Given the description of an element on the screen output the (x, y) to click on. 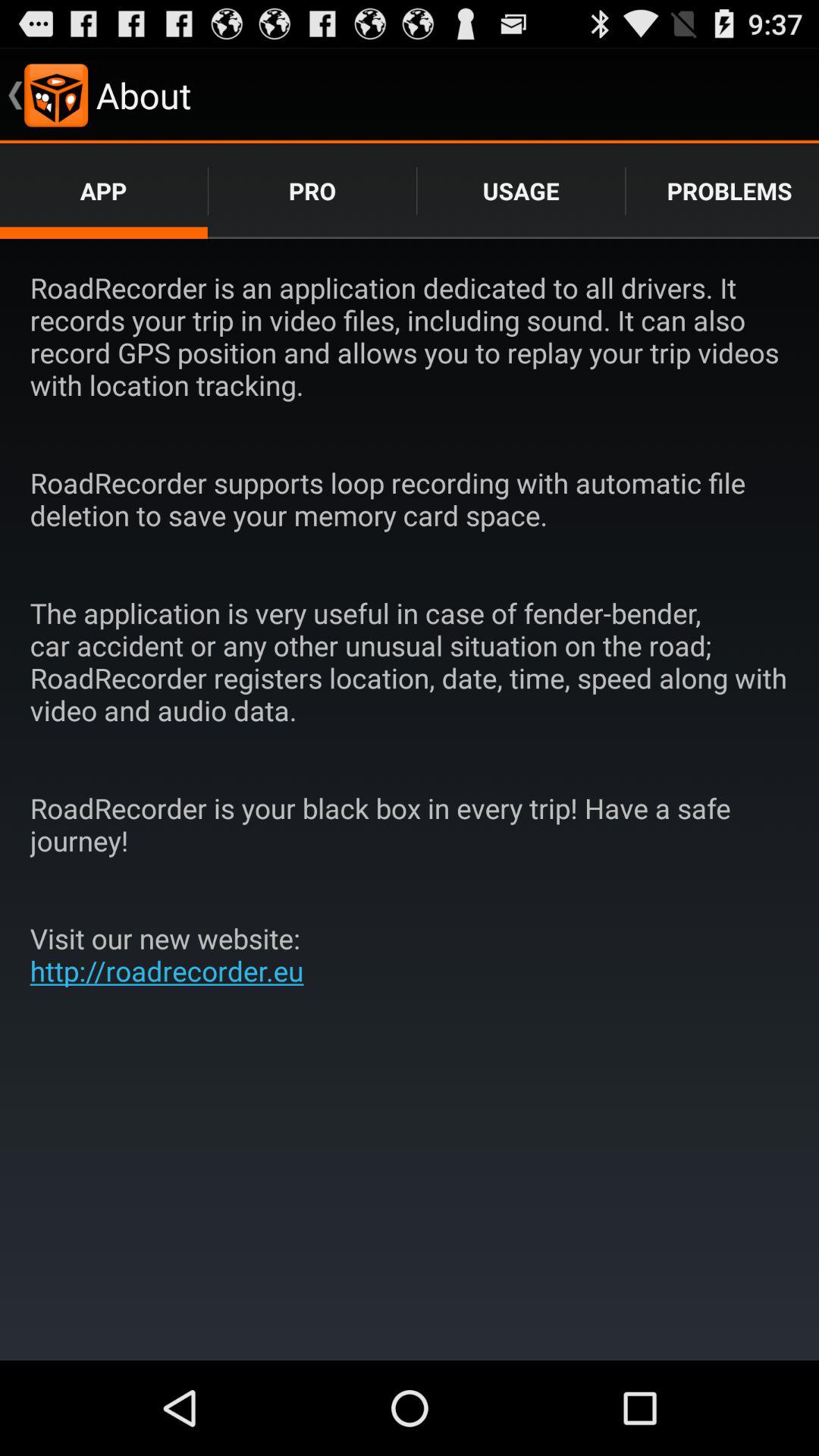
swipe to the visit our new app (172, 954)
